Given the description of an element on the screen output the (x, y) to click on. 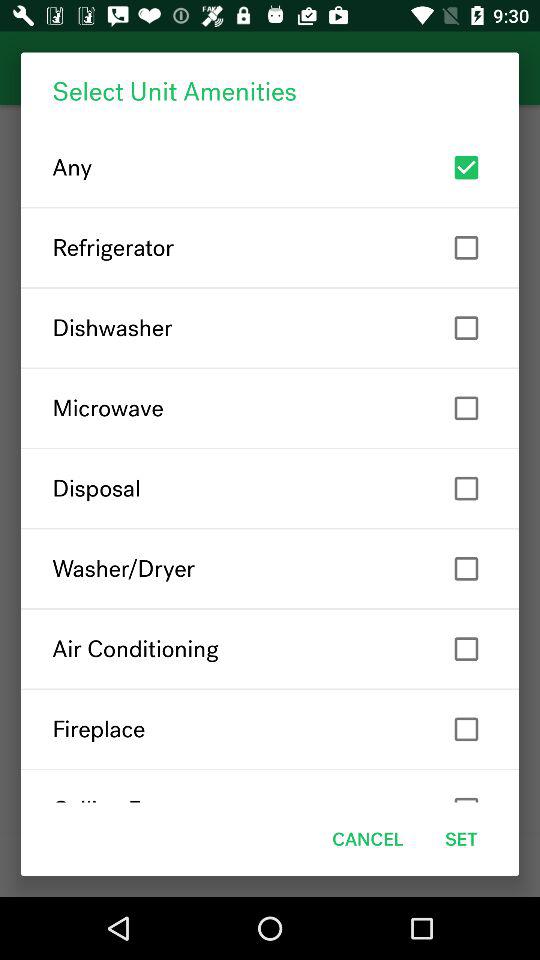
choose item above the fireplace (270, 648)
